Given the description of an element on the screen output the (x, y) to click on. 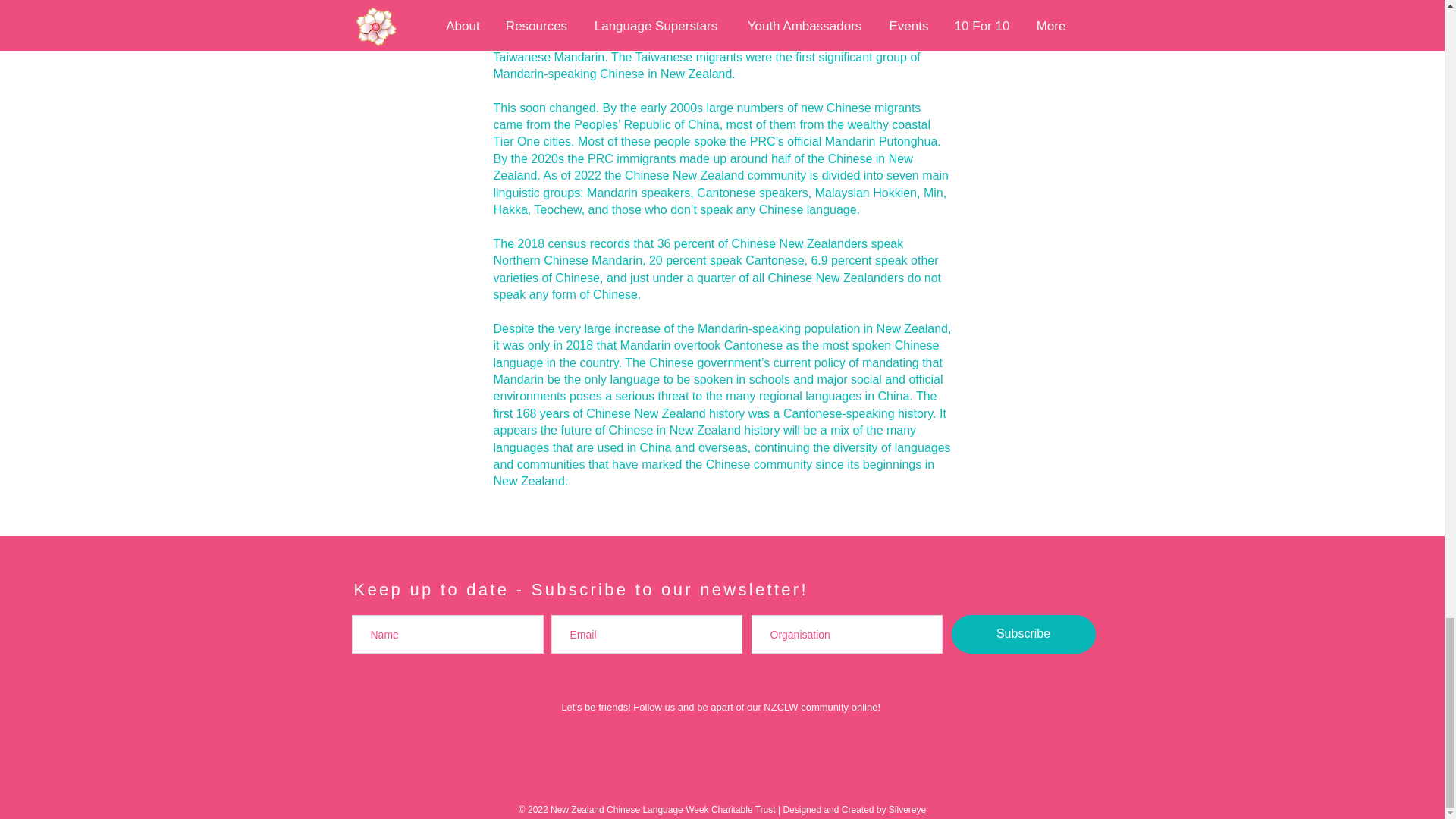
Silvereye (907, 809)
Subscribe (1022, 634)
